Given the description of an element on the screen output the (x, y) to click on. 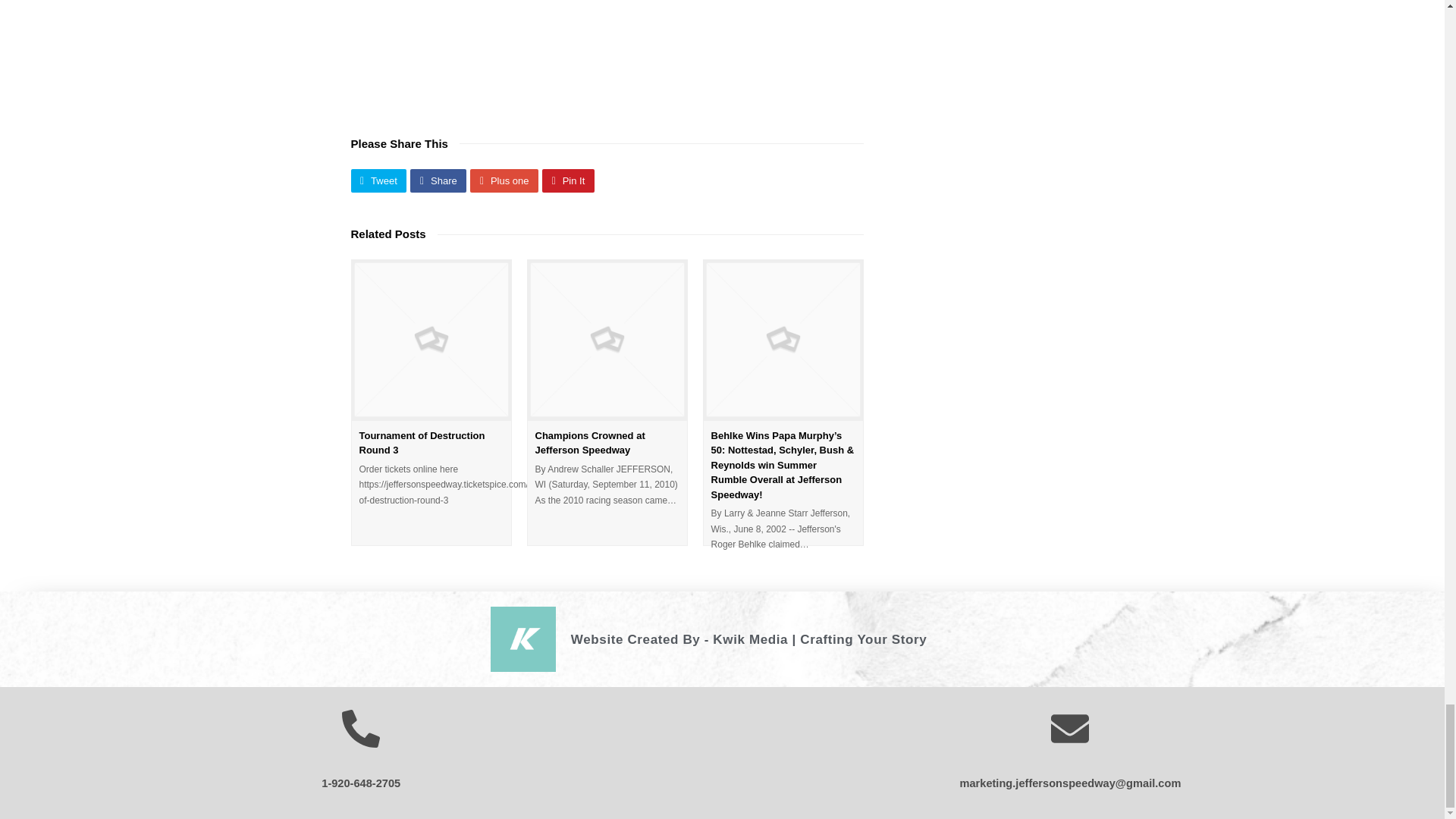
Champions Crowned at Jefferson Speedway (607, 339)
Share on Pinterest (567, 180)
Share on Twitter (378, 180)
Tournament of Destruction Round 3 (430, 339)
Champions Crowned at Jefferson Speedway (590, 442)
Share on Facebook (437, 180)
Tournament of Destruction Round 3 (421, 442)
